Given the description of an element on the screen output the (x, y) to click on. 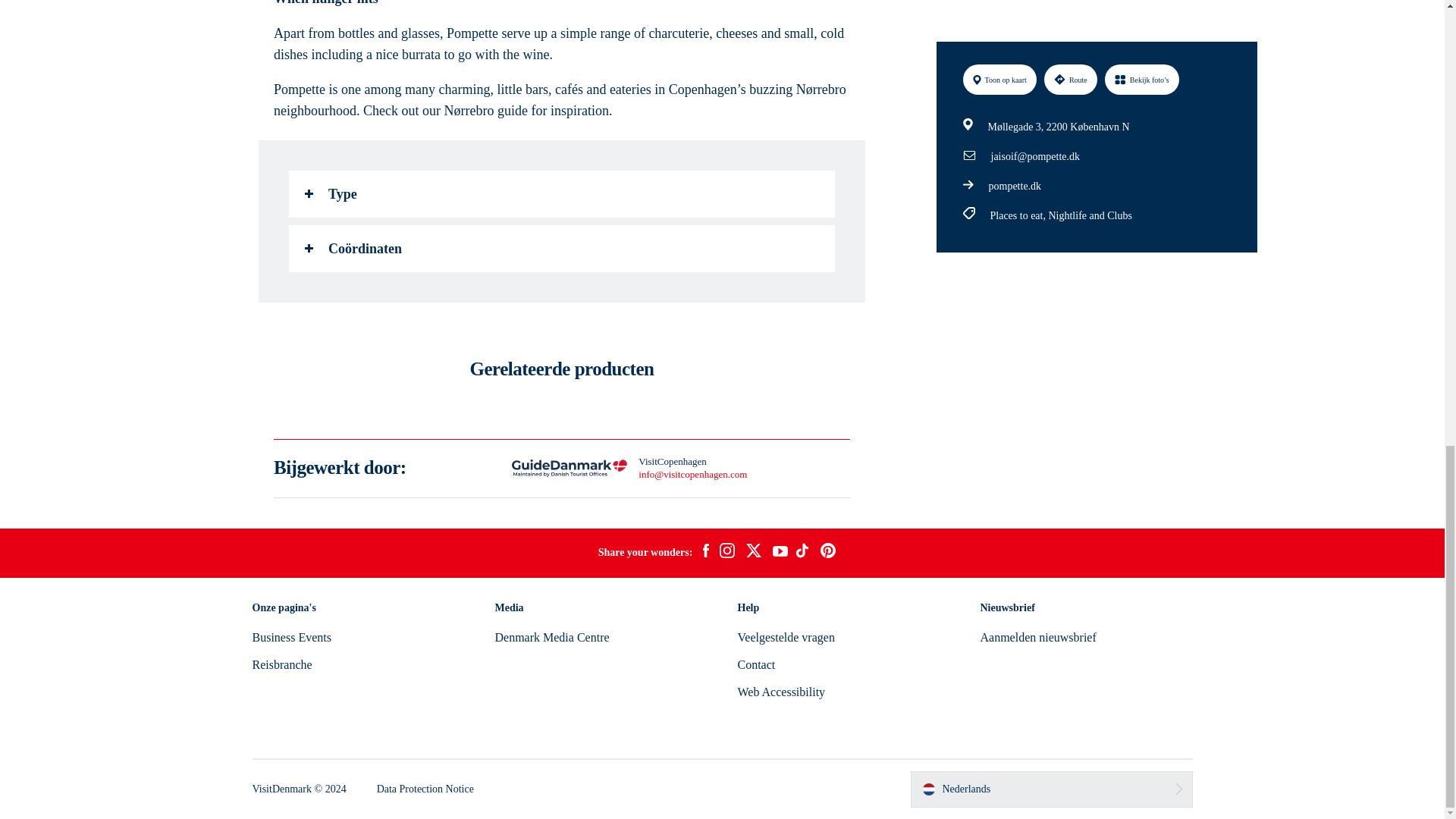
Reisbranche (281, 664)
Denmark Media Centre (551, 636)
youtube (780, 553)
Data Protection Notice (425, 789)
pinterest (828, 552)
Veelgestelde vragen (785, 636)
Denmark Media Centre (551, 636)
Reisbranche (281, 664)
Business Events (290, 636)
twitter (753, 552)
